Given the description of an element on the screen output the (x, y) to click on. 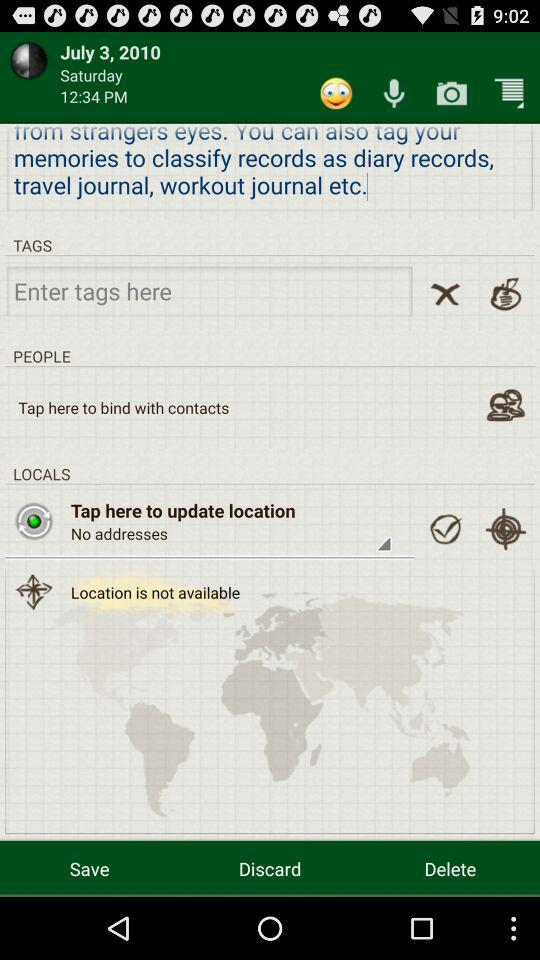
go to camera (451, 92)
